Given the description of an element on the screen output the (x, y) to click on. 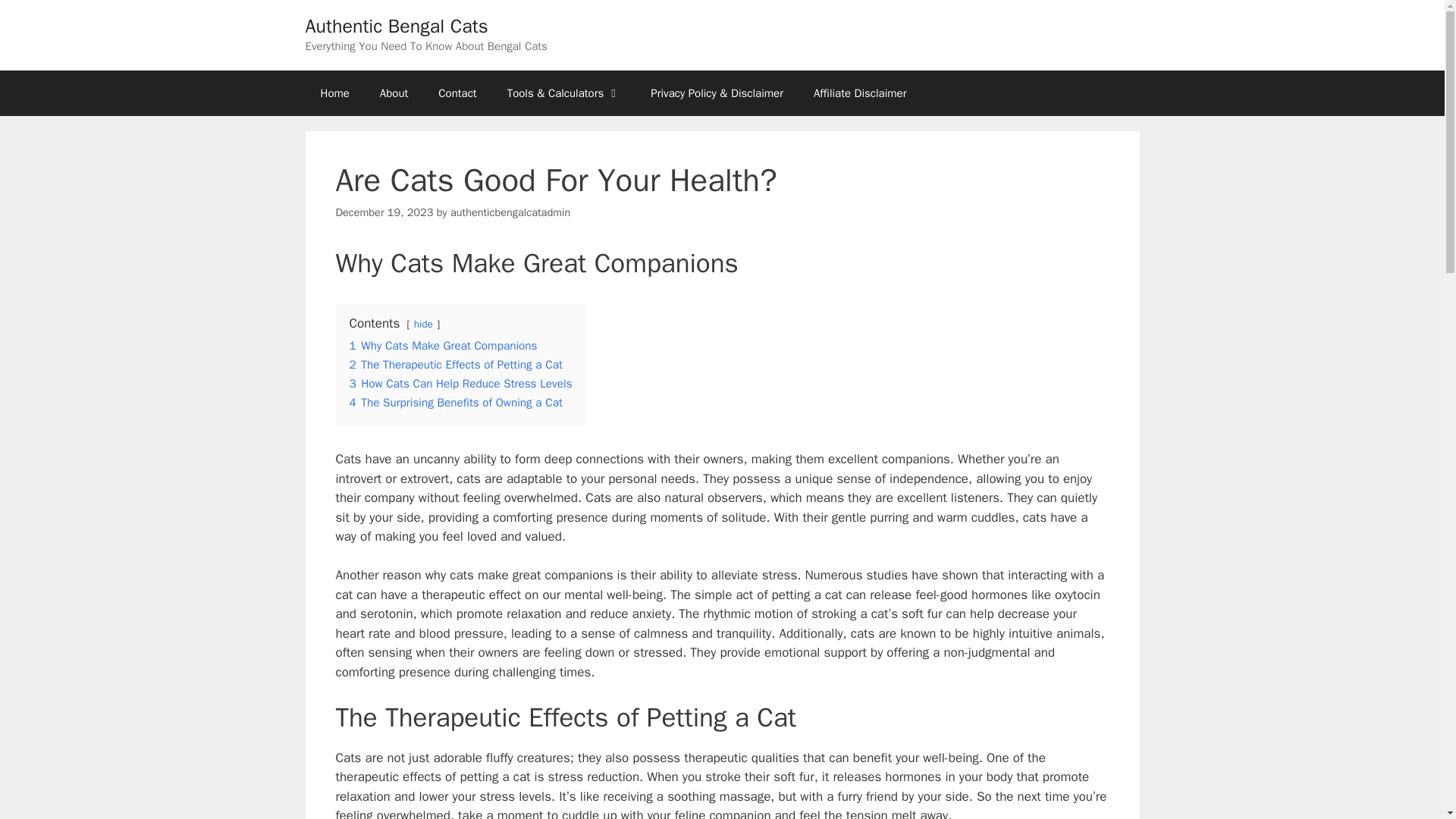
authenticbengalcatadmin (509, 212)
View all posts by authenticbengalcatadmin (509, 212)
Authentic Bengal Cats (395, 25)
hide (422, 323)
Affiliate Disclaimer (859, 92)
Home (334, 92)
About (394, 92)
2 The Therapeutic Effects of Petting a Cat (455, 364)
4 The Surprising Benefits of Owning a Cat (455, 402)
1 Why Cats Make Great Companions (443, 345)
Contact (457, 92)
3 How Cats Can Help Reduce Stress Levels (460, 383)
